Given the description of an element on the screen output the (x, y) to click on. 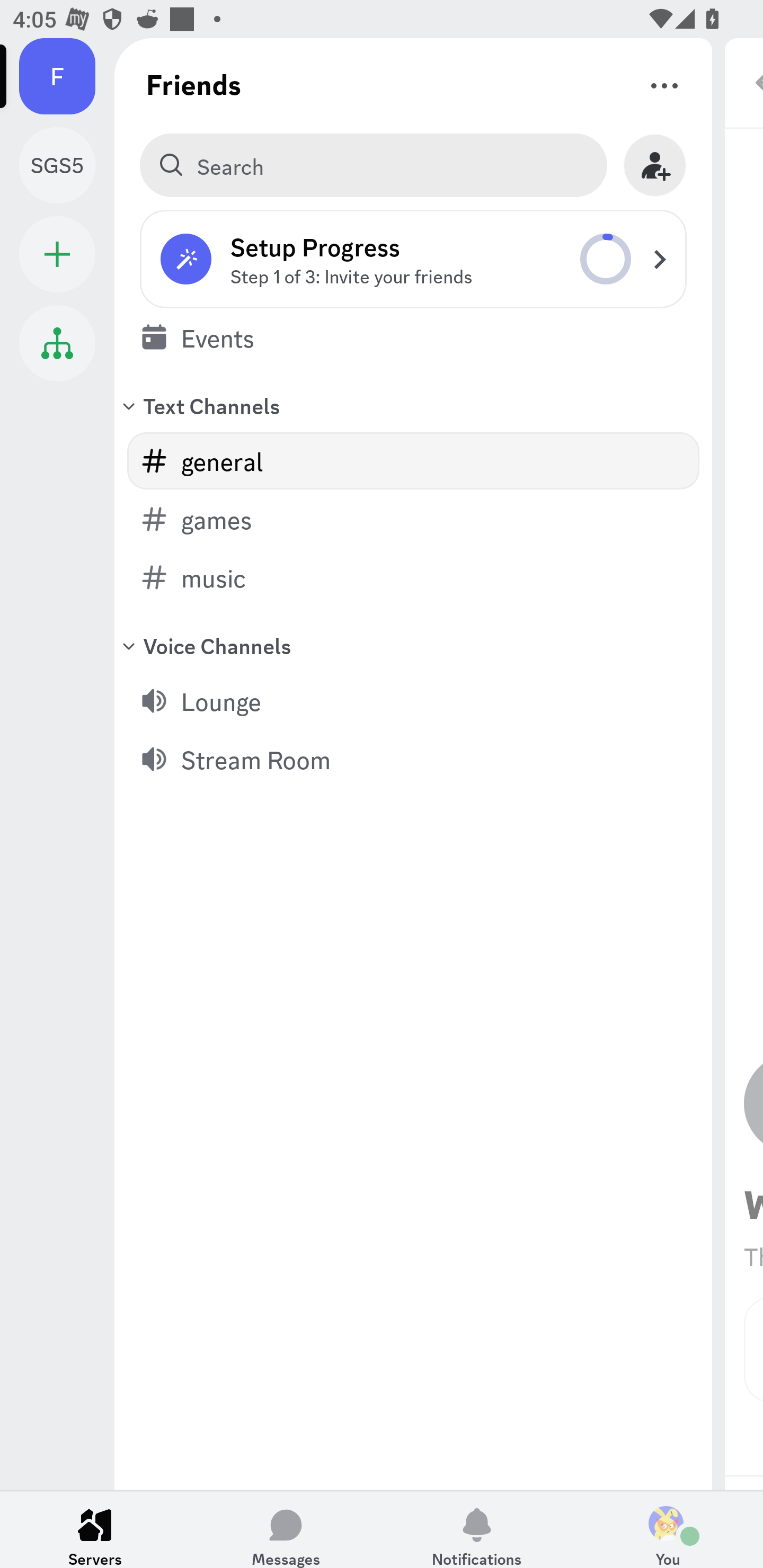
  Friends F (66, 75)
Friends (193, 83)
  Study Group Sunday 5PM SGS5 (66, 165)
Search (373, 165)
Invite (654, 165)
Add a Server (57, 253)
Student Hub (57, 343)
Events (413, 336)
Text Channels (412, 404)
general (text channel) general (413, 460)
games (text channel) games (413, 518)
music (text channel) music (413, 576)
Voice Channels (412, 644)
Lounge (voice channel), 0 users Lounge (413, 700)
Stream Room (voice channel), 0 users Stream Room (413, 758)
Servers (95, 1529)
Messages (285, 1529)
Notifications (476, 1529)
